Given the description of an element on the screen output the (x, y) to click on. 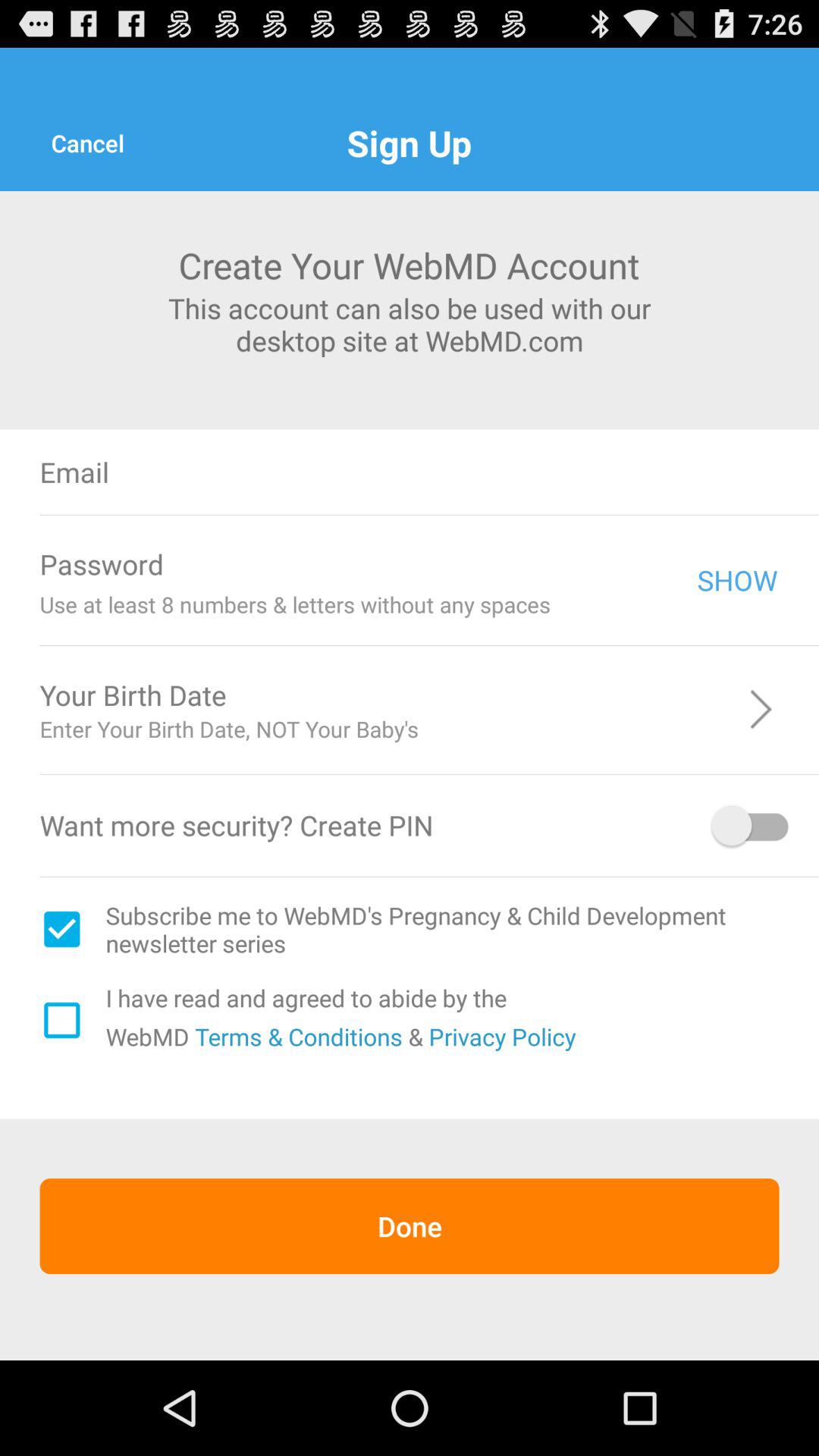
add password (439, 564)
